Given the description of an element on the screen output the (x, y) to click on. 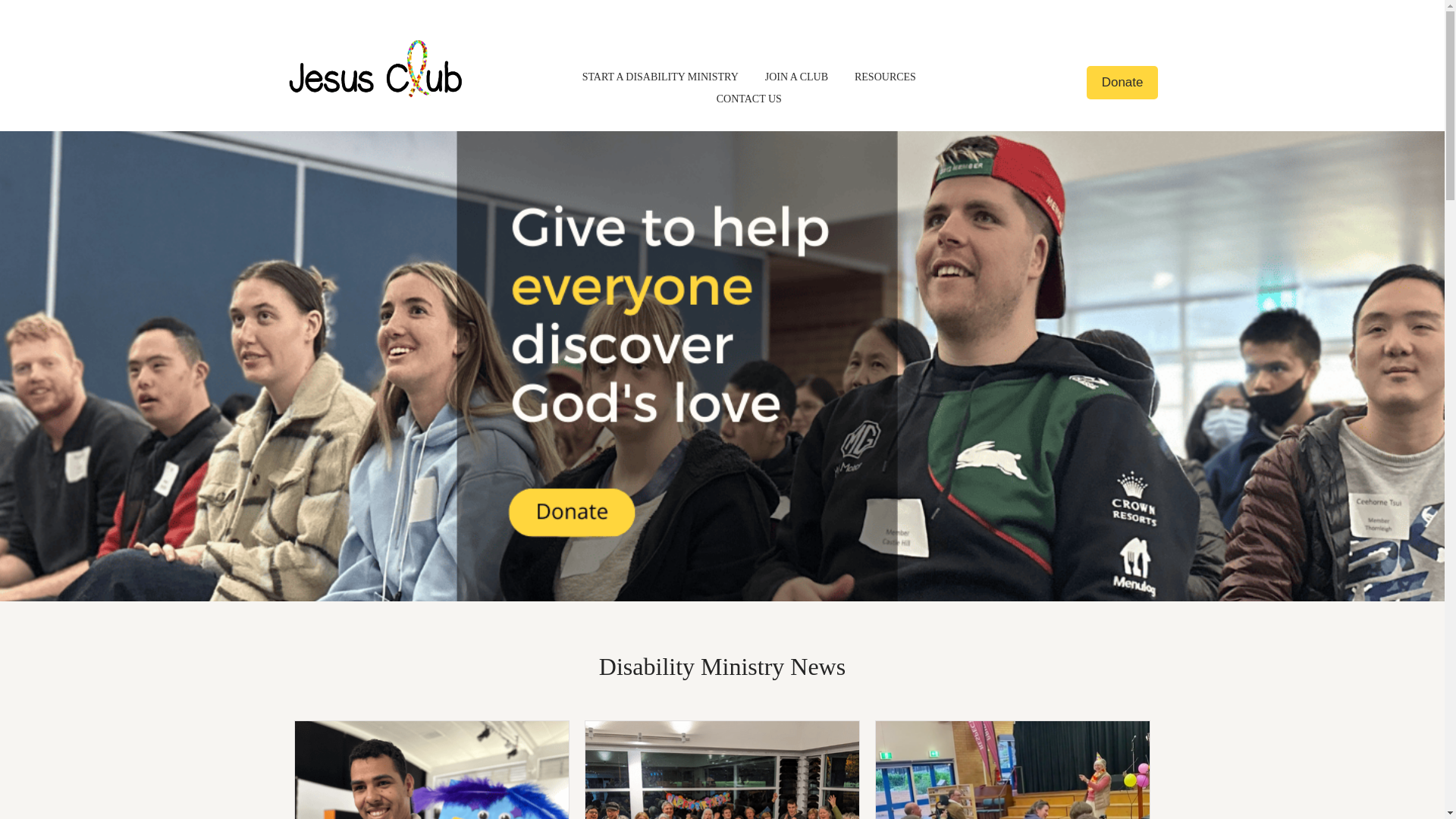
JOIN A CLUB Element type: text (796, 77)
Jesus Club Logo Element type: hover (376, 68)
CONTACT US Element type: text (749, 99)
RESOURCES Element type: text (885, 77)
START A DISABILITY MINISTRY Element type: text (660, 77)
Donate Element type: text (1122, 82)
